Given the description of an element on the screen output the (x, y) to click on. 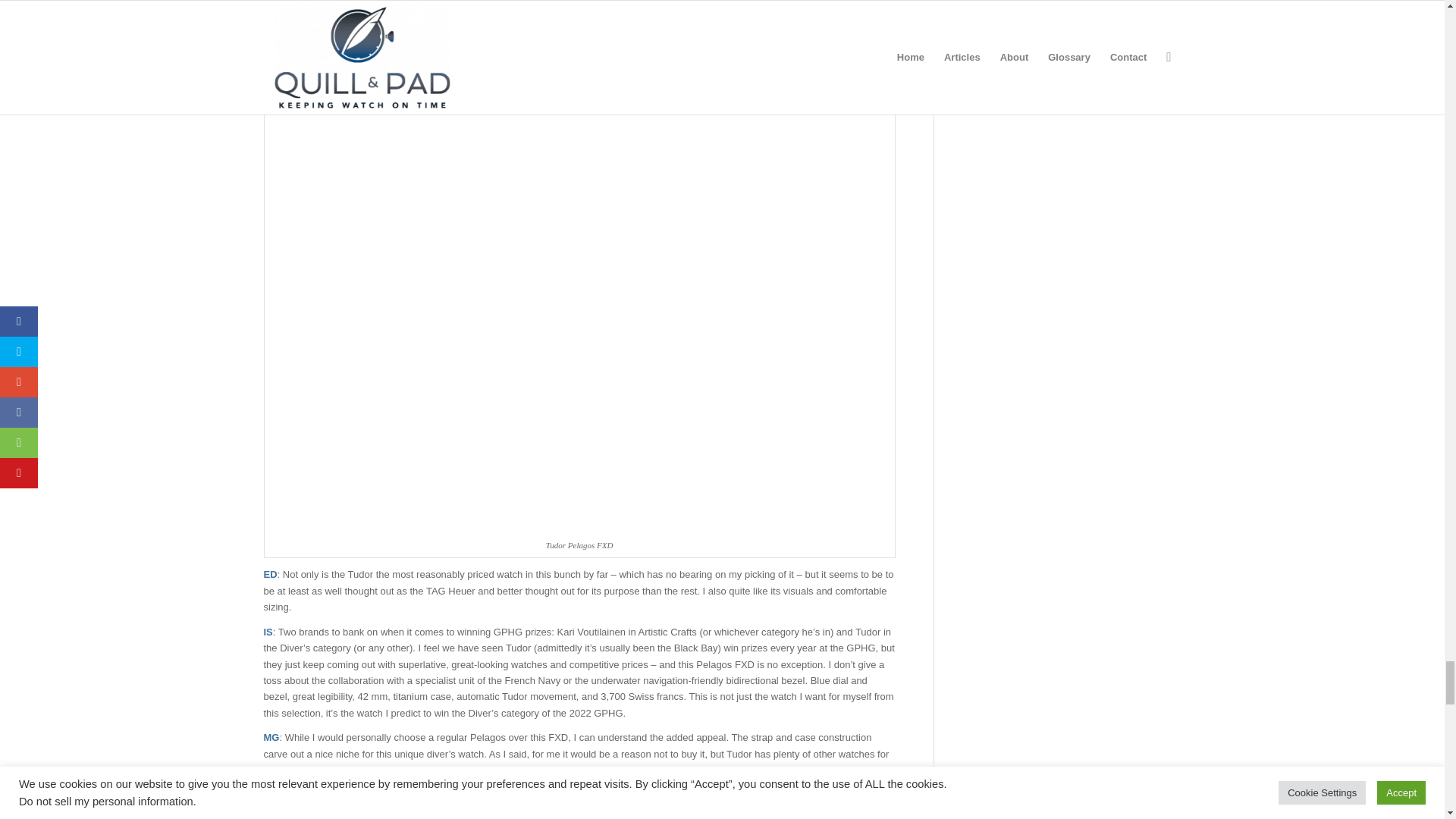
Tudor Pelagos FXD: Is It Better Than The Black Bay? (459, 810)
